Given the description of an element on the screen output the (x, y) to click on. 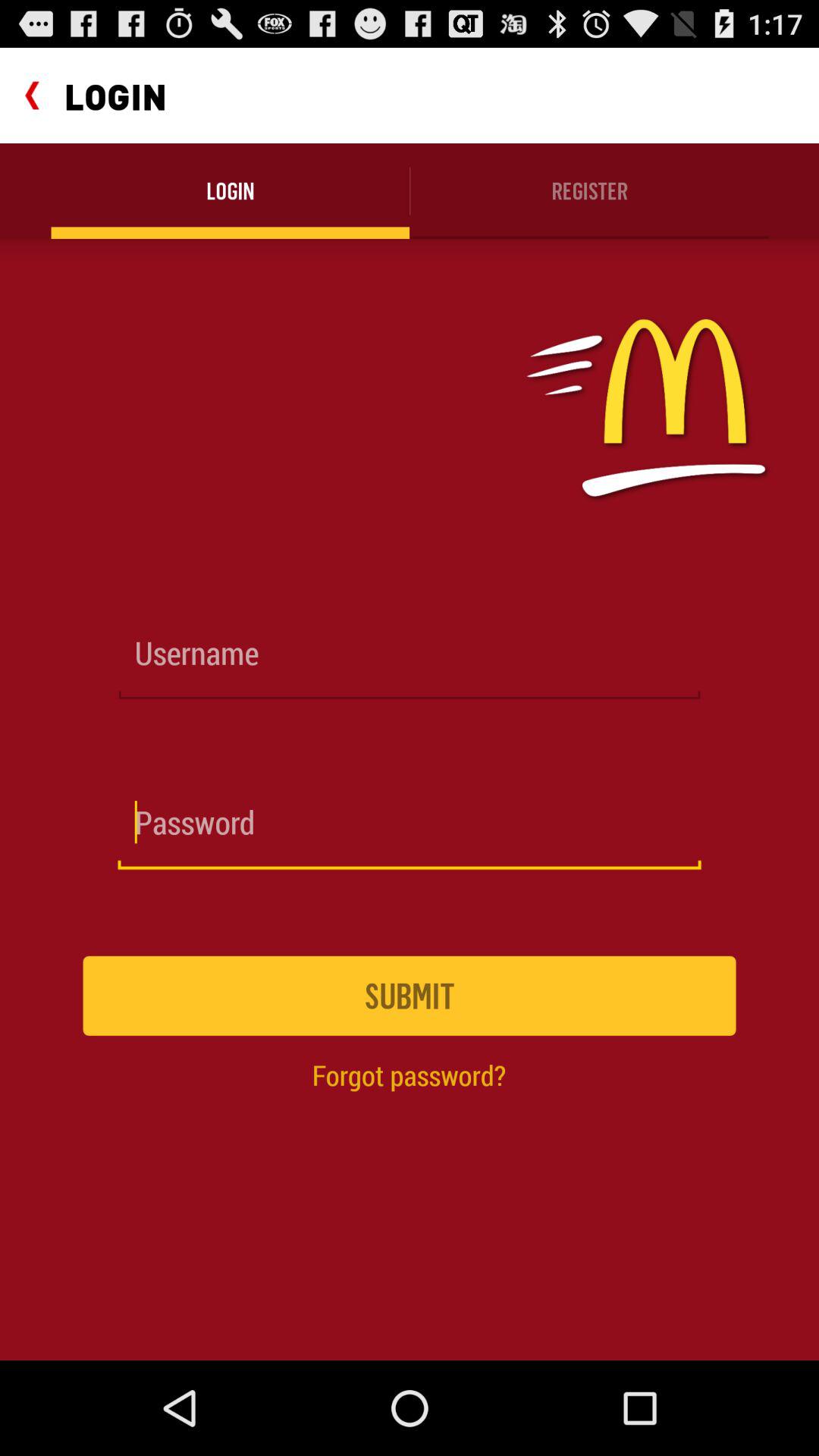
press item above forgot password? (409, 995)
